Given the description of an element on the screen output the (x, y) to click on. 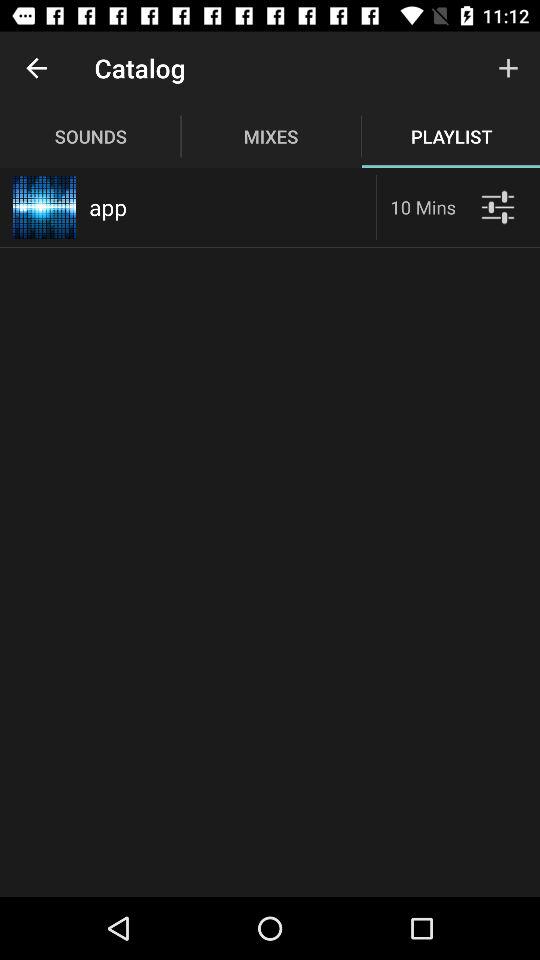
choose item above playlist (508, 67)
